Given the description of an element on the screen output the (x, y) to click on. 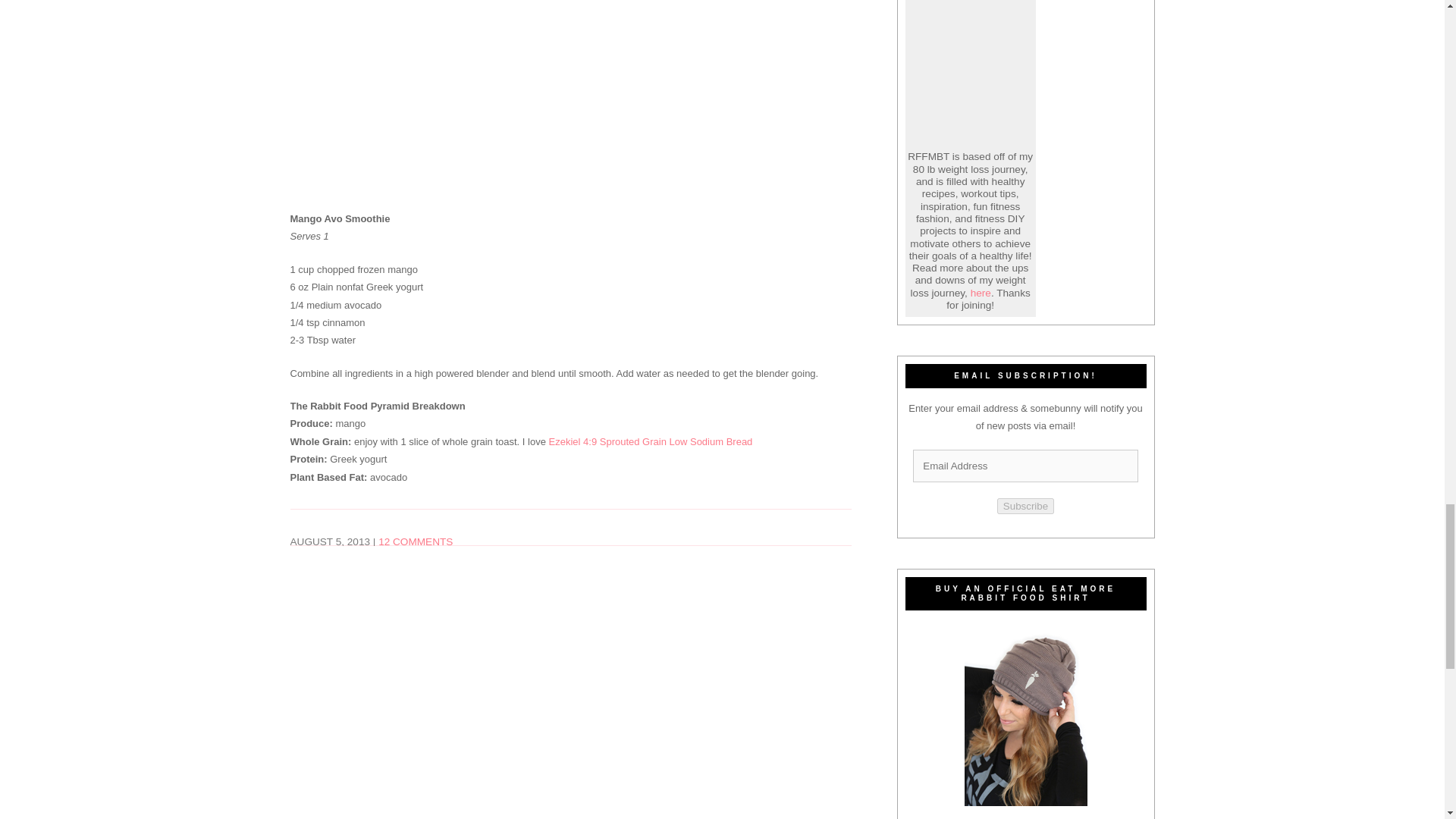
12 COMMENTS (415, 541)
Ezekiel 4:9 Sprouted Grain Low Sodium Bread (650, 441)
Subscribe (1025, 505)
Ezekiel Bread (650, 441)
here (981, 292)
